Given the description of an element on the screen output the (x, y) to click on. 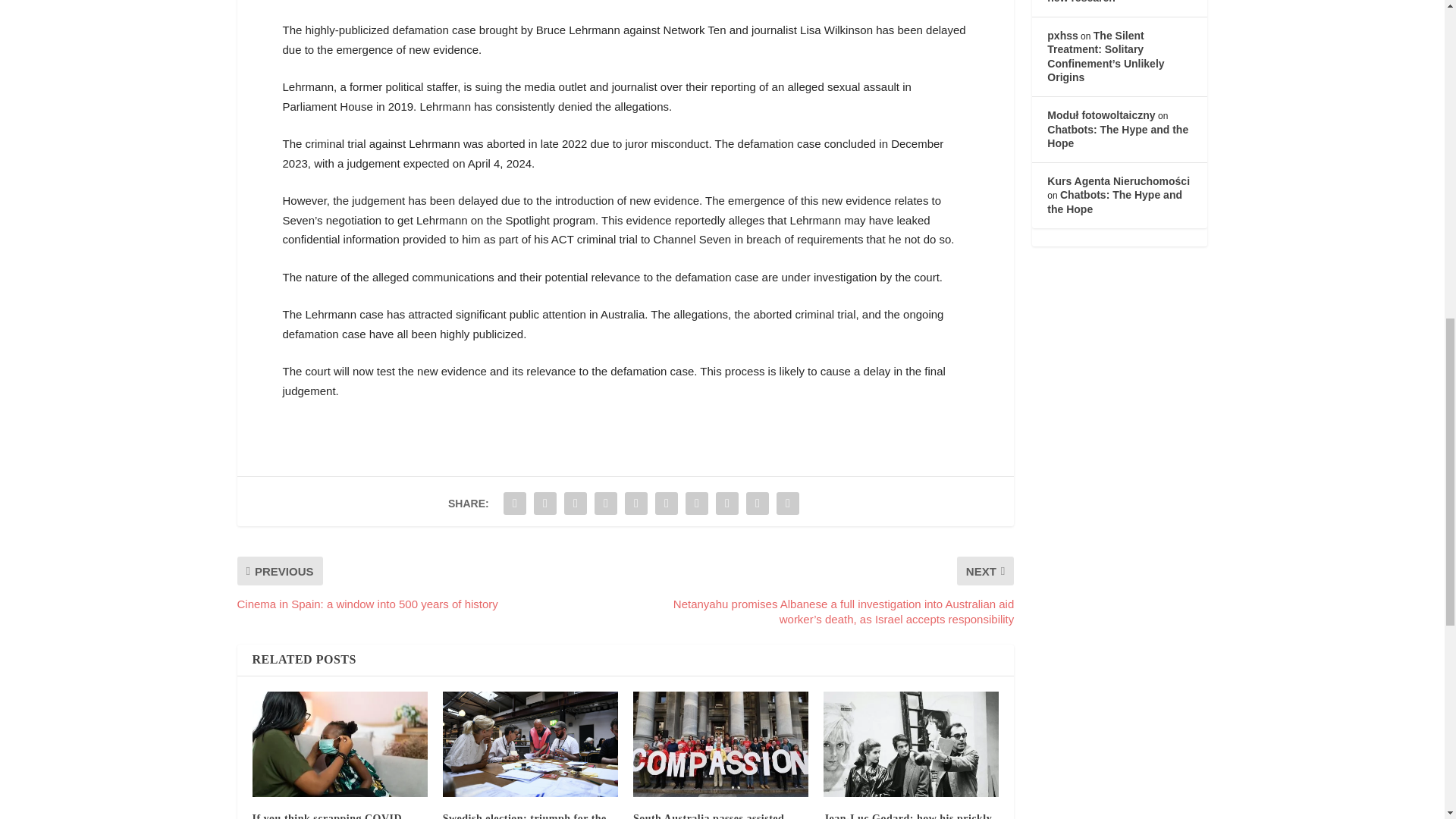
South Australia passes assisted dying law (708, 816)
